Given the description of an element on the screen output the (x, y) to click on. 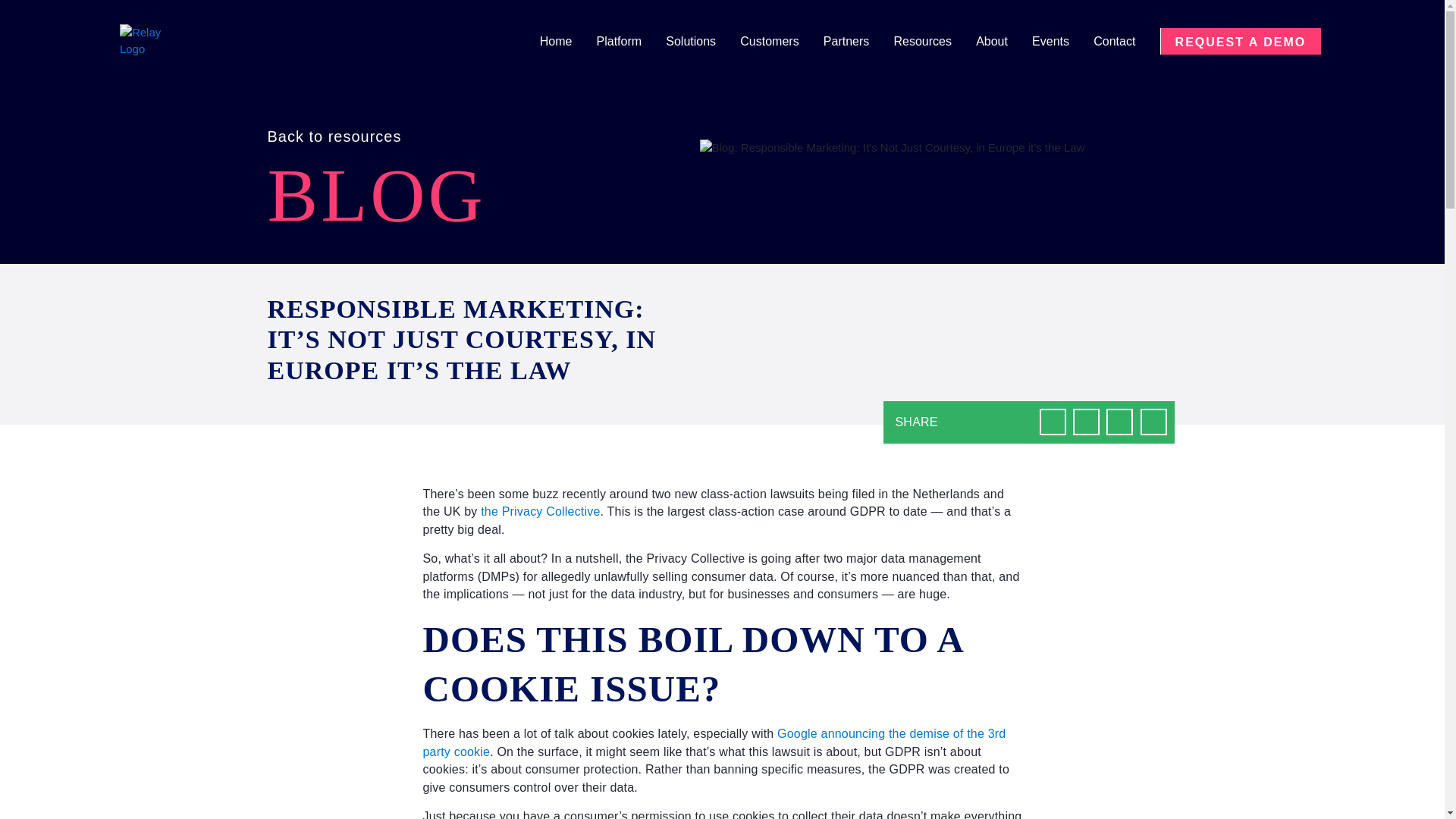
Contact (1124, 41)
About (1002, 41)
Share on Facebook (1052, 421)
Share on Twitter (1086, 421)
Partners (856, 41)
Solutions (700, 41)
REQUEST A DEMO (1241, 40)
Platform (629, 41)
Events (1061, 41)
Share on LinkedIn (1119, 421)
